Given the description of an element on the screen output the (x, y) to click on. 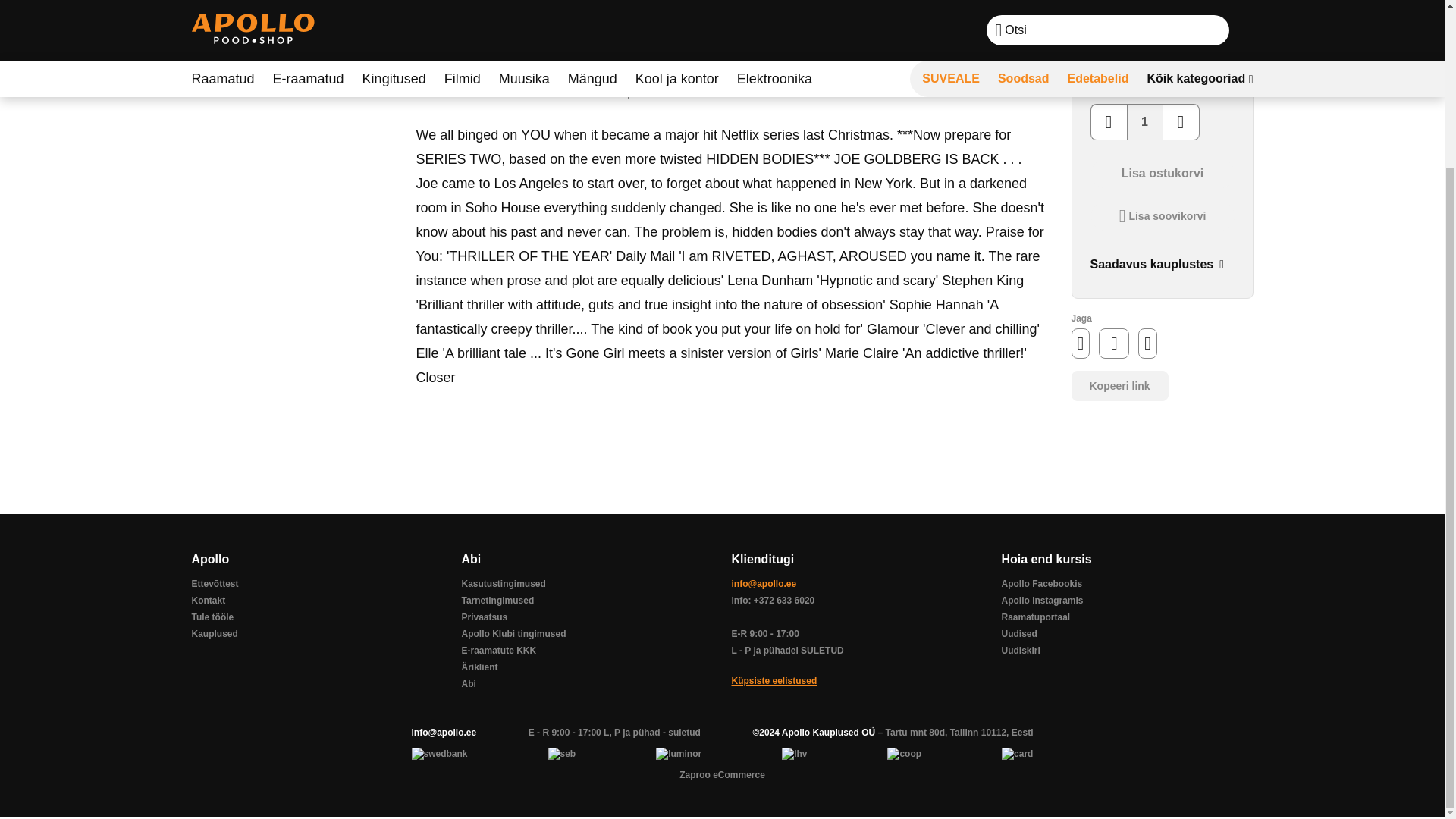
1 (1144, 122)
0 hinnangut (576, 86)
